Given the description of an element on the screen output the (x, y) to click on. 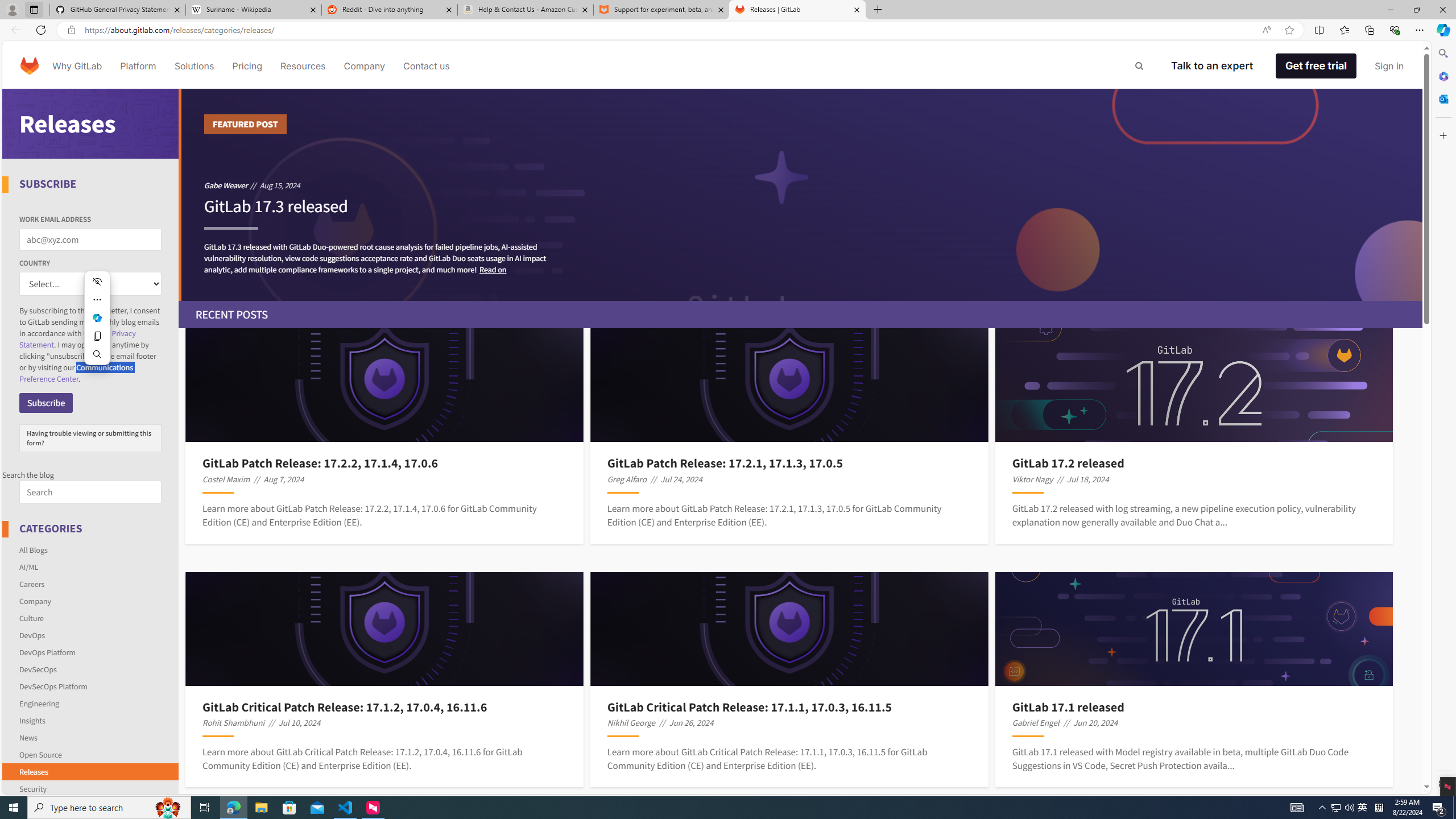
Culture (90, 617)
Solutions (193, 65)
Talk to an expert (1211, 65)
AI/ML (90, 566)
Open Source (90, 754)
WORK EMAIL ADDRESS (89, 239)
DevSecOps Platform (52, 685)
Communications Preference Center (75, 372)
